Given the description of an element on the screen output the (x, y) to click on. 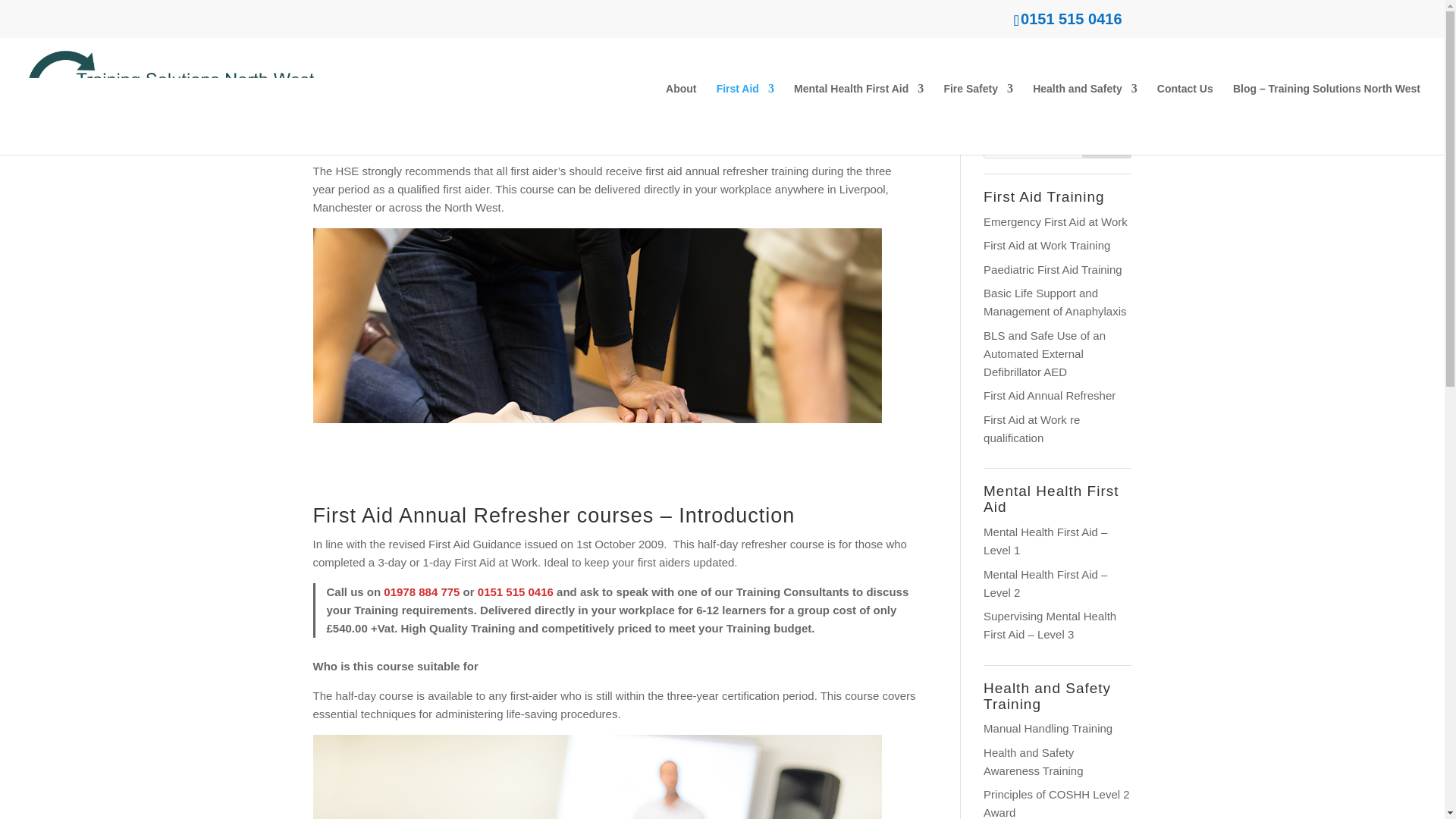
Fire Safety (978, 118)
Mental Health First Aid (858, 118)
Health and Safety (1084, 118)
First Aid Annual Refresher (1049, 395)
Emergency First Aid at Work (1055, 221)
Search (1106, 142)
BLS and Safe Use of an Automated External Defibrillator AED (1044, 353)
Basic Life Support and Management of Anaphylaxis (1054, 301)
